Given the description of an element on the screen output the (x, y) to click on. 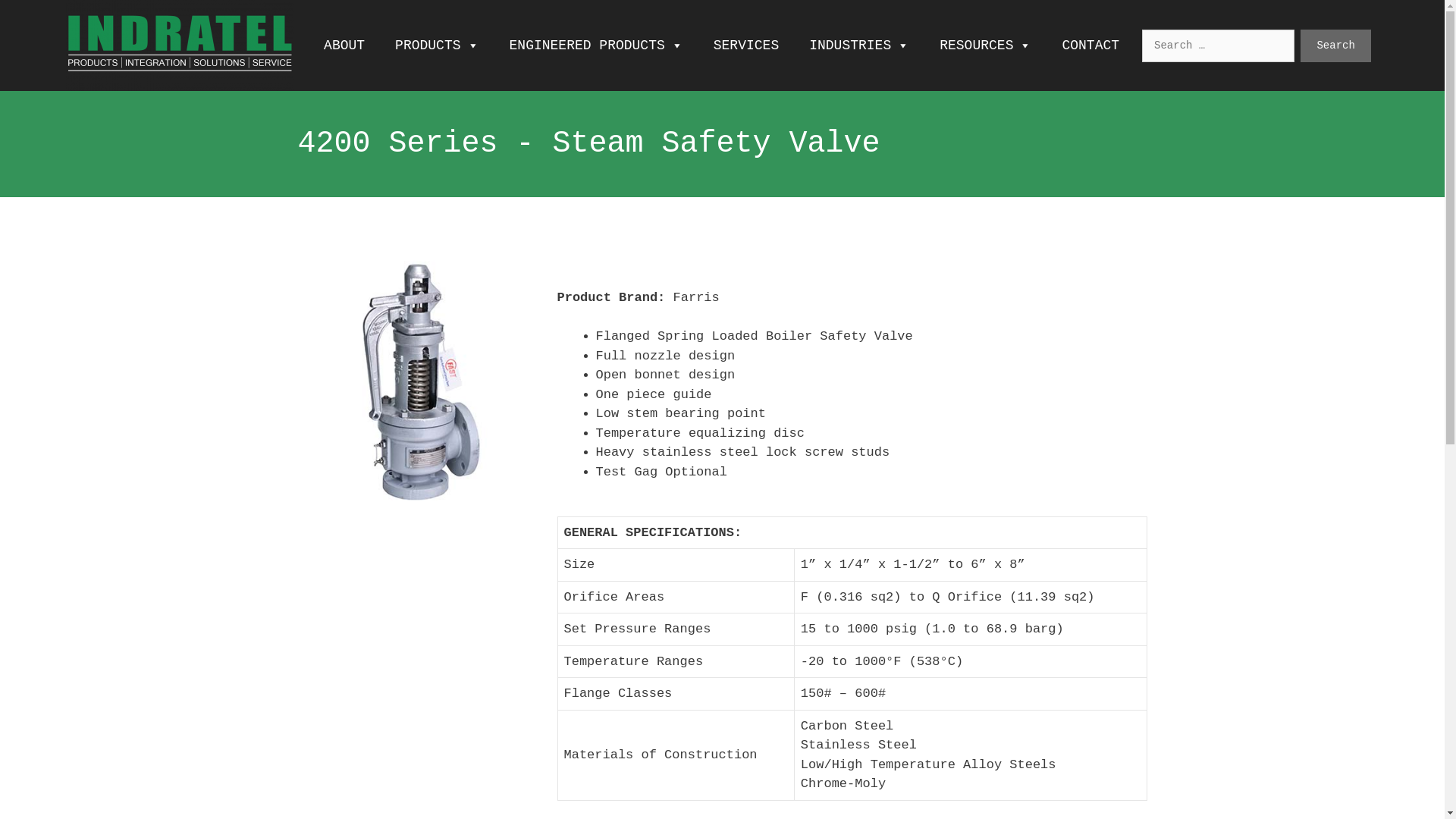
ABOUT Element type: text (344, 45)
CONTACT Element type: text (1090, 45)
SERVICES Element type: text (746, 45)
PRODUCTS Element type: text (436, 45)
ENGINEERED PRODUCTS Element type: text (596, 45)
RESOURCES Element type: text (984, 45)
Search Element type: text (1335, 44)
Search for: Element type: hover (1218, 44)
INDUSTRIES Element type: text (858, 45)
